Given the description of an element on the screen output the (x, y) to click on. 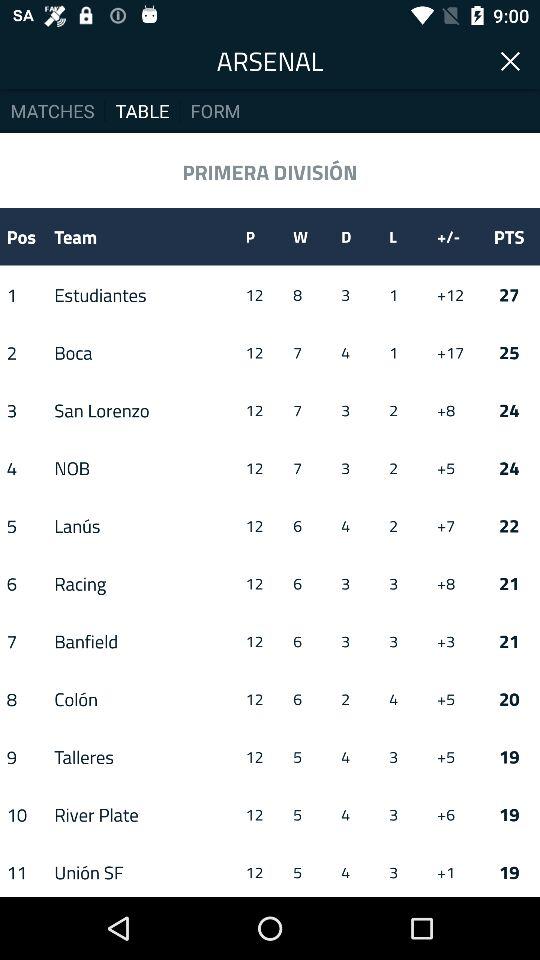
turn off icon to the left of form icon (142, 110)
